Given the description of an element on the screen output the (x, y) to click on. 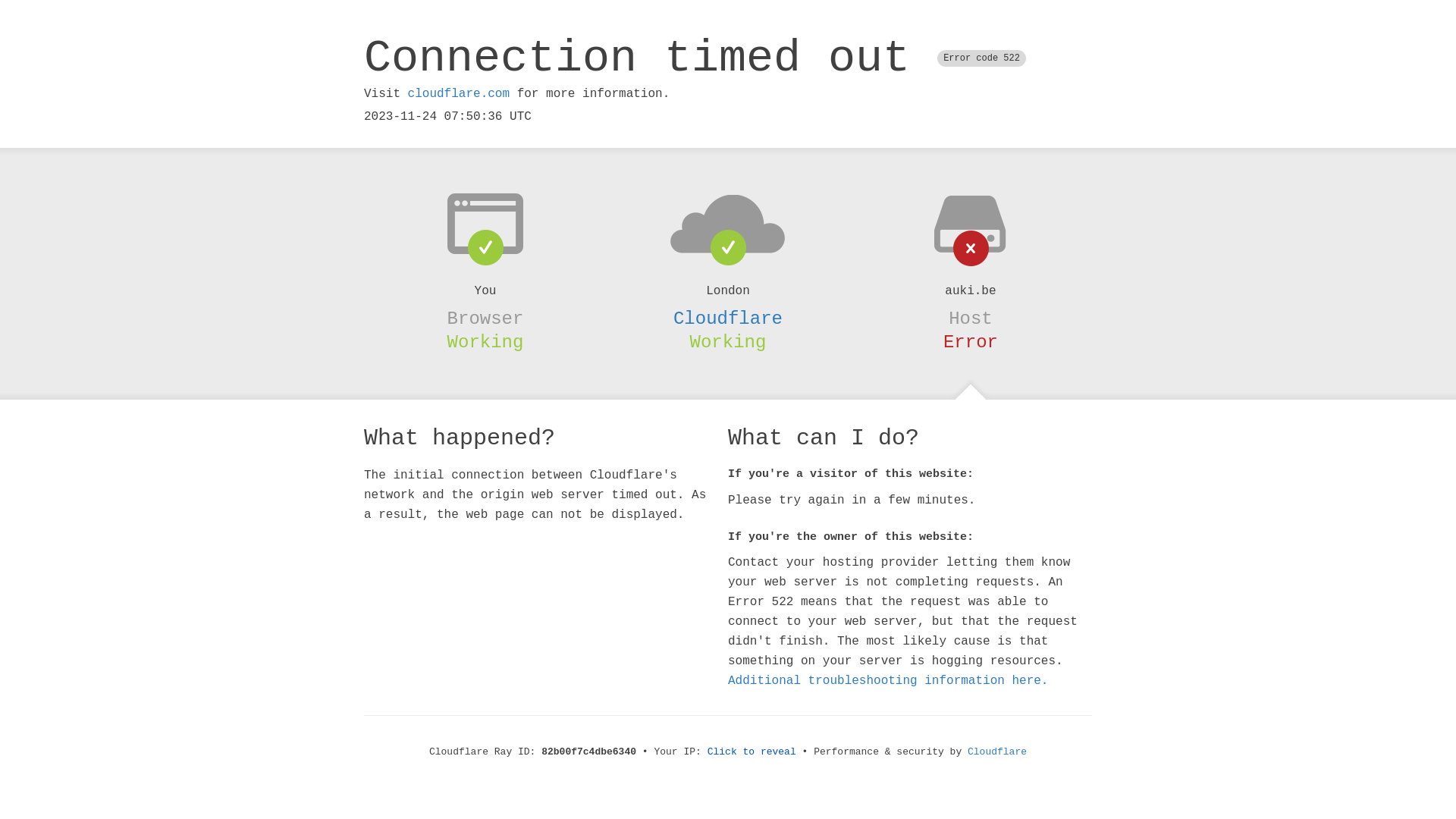
Click to reveal Element type: text (751, 751)
Cloudflare Element type: text (727, 318)
Additional troubleshooting information here. Element type: text (888, 680)
cloudflare.com Element type: text (458, 93)
Cloudflare Element type: text (996, 751)
